Given the description of an element on the screen output the (x, y) to click on. 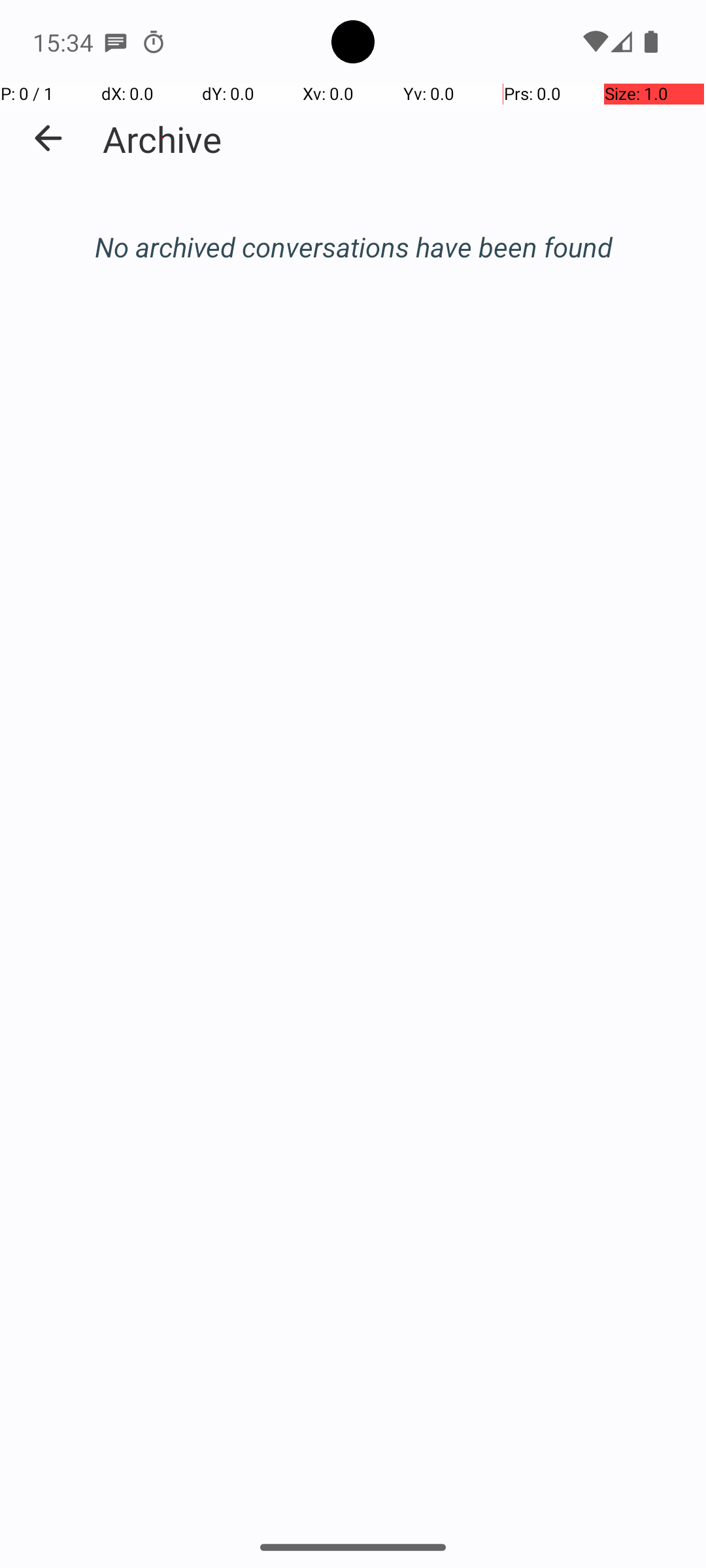
SMS Messenger notification: Emily Ibrahim Element type: android.widget.ImageView (115, 41)
